Given the description of an element on the screen output the (x, y) to click on. 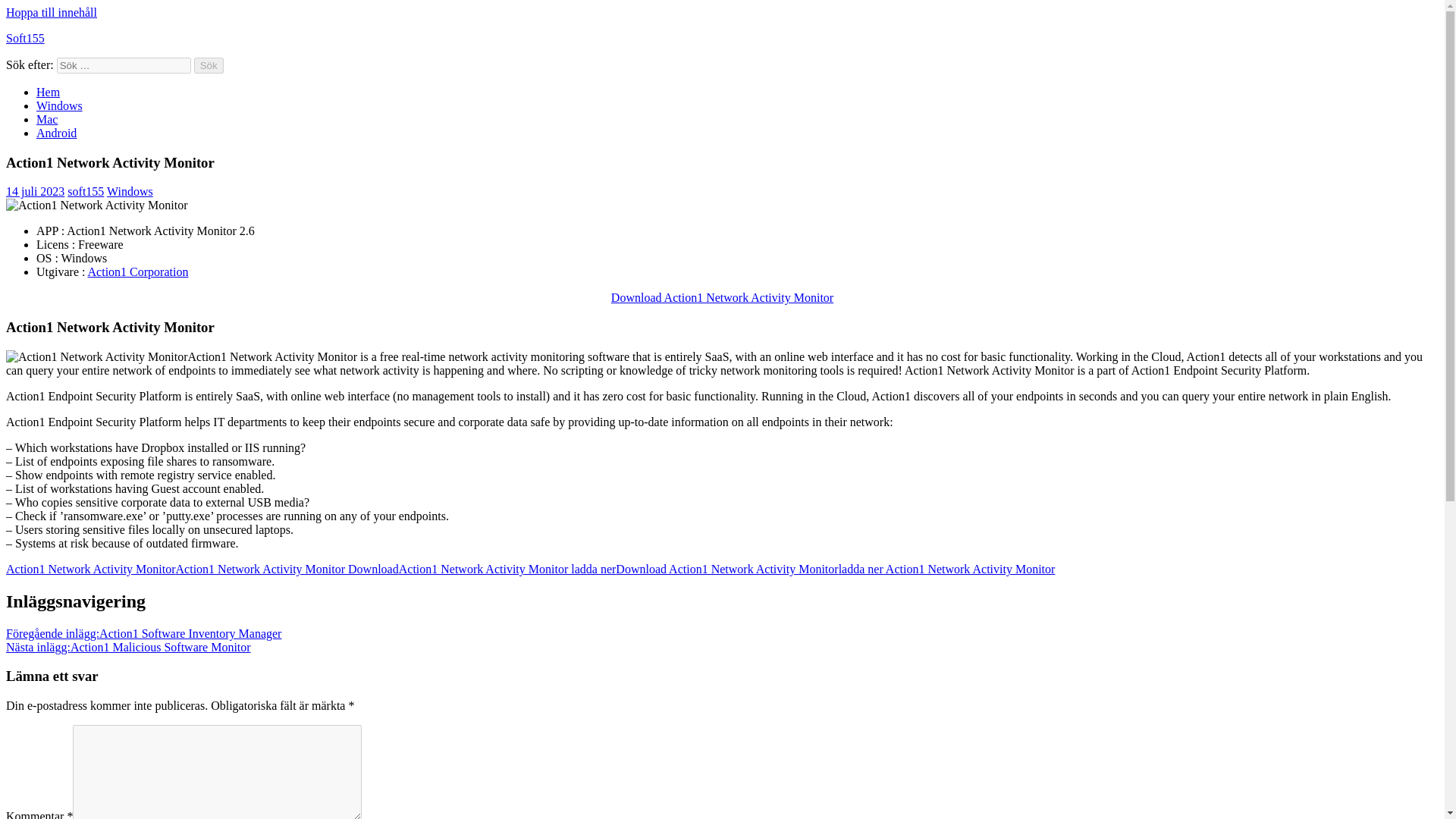
Action1 Network Activity Monitor (90, 568)
ladda ner Action1 Network Activity Monitor (946, 568)
14 juli 2023 (34, 191)
Download Action1 Network Activity Monitor (726, 568)
Action1 Corporation (138, 271)
Android (56, 132)
Download Action1 Network Activity Monitor (721, 297)
Action1 Network Activity Monitor ladda ner (506, 568)
Mac (47, 119)
Soft155 (25, 38)
Hem (47, 91)
Action1 Network Activity Monitor (96, 356)
Windows (129, 191)
06:39 (34, 191)
Windows (59, 105)
